Given the description of an element on the screen output the (x, y) to click on. 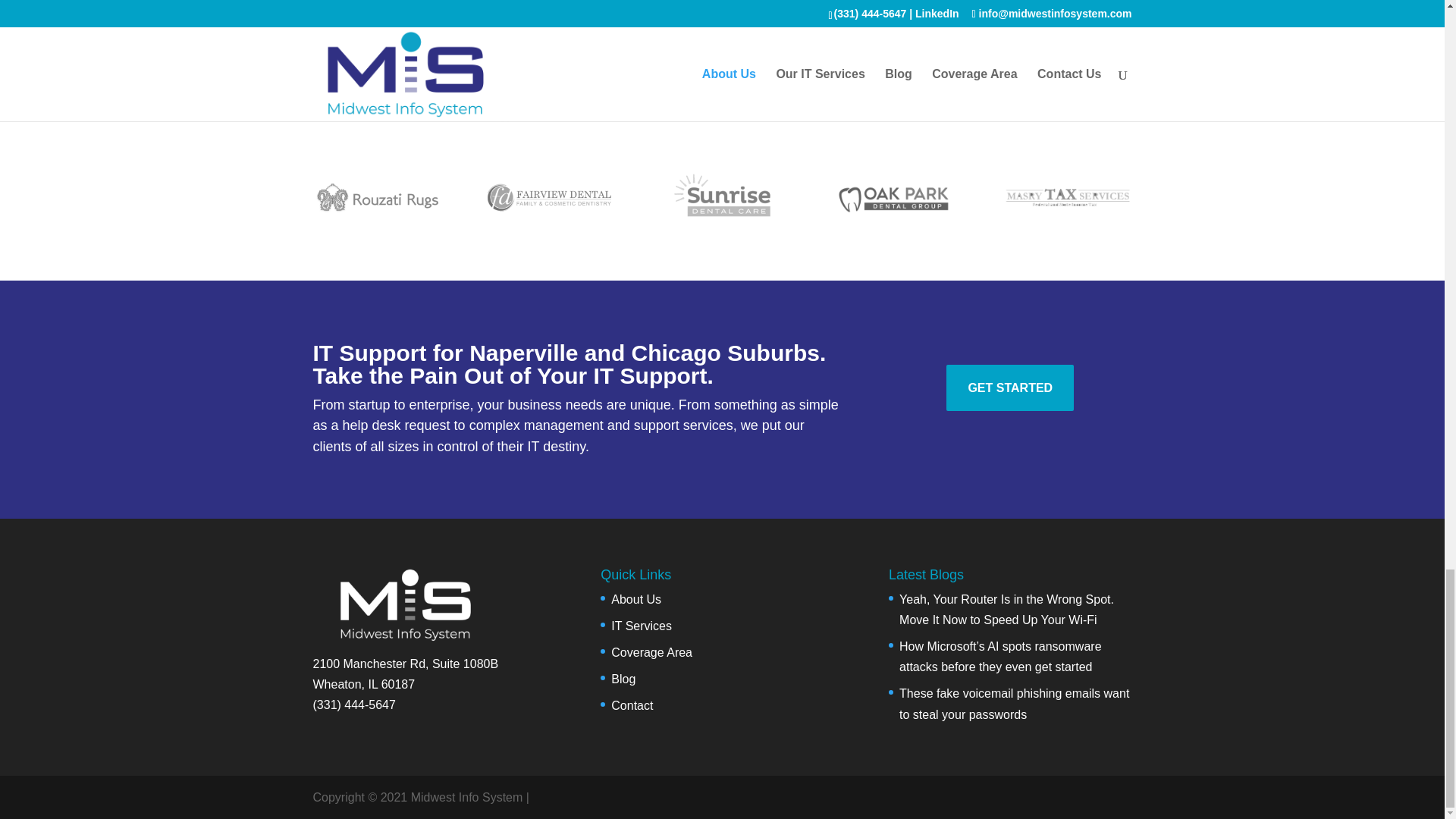
Coverage Area (652, 652)
IT Services (641, 625)
Contact (631, 705)
Blog (622, 678)
About Us (636, 599)
GET STARTED (1010, 387)
